Given the description of an element on the screen output the (x, y) to click on. 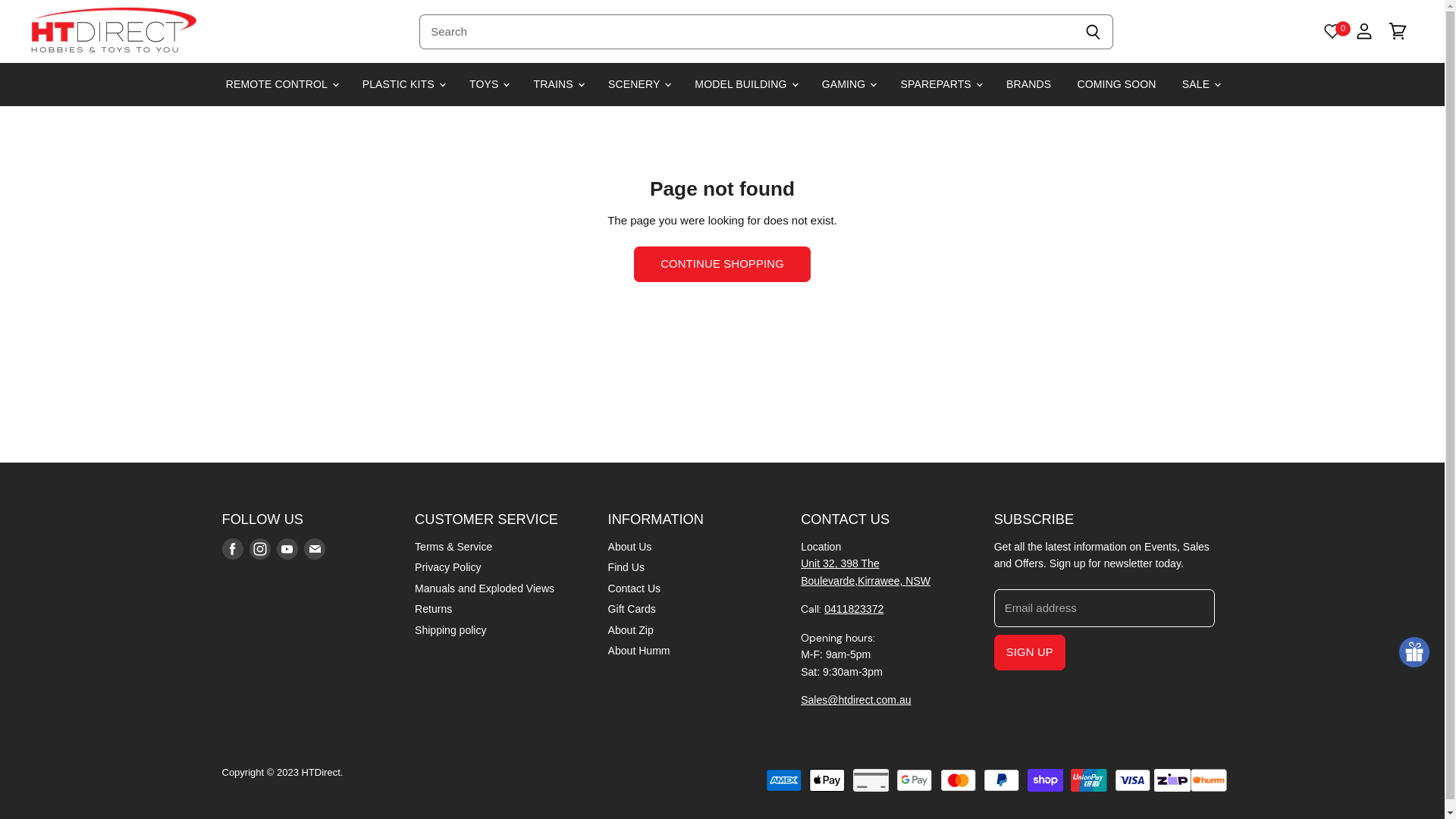
About Us Element type: text (630, 546)
CONTINUE SHOPPING Element type: text (721, 264)
PLASTIC KITS Element type: text (403, 84)
TRAINS Element type: text (557, 84)
About Humm Element type: text (639, 650)
Unit 32, 398 The Boulevarde,Kirrawee, NSW Element type: text (865, 571)
SPAREPARTS Element type: text (940, 84)
Contact Us Element type: text (634, 588)
Sales@htdirect.com.au Element type: text (855, 699)
REMOTE CONTROL Element type: text (281, 84)
Gift Cards Element type: text (631, 608)
Privacy Policy Element type: text (447, 567)
0411823372 Element type: text (853, 608)
MODEL BUILDING Element type: text (744, 84)
Manuals and Exploded Views Element type: text (484, 588)
Find us on E-mail Element type: text (313, 548)
Terms & Service Element type: text (453, 546)
Find Us Element type: text (626, 567)
SIGN UP Element type: text (1029, 652)
View account Element type: text (1363, 30)
SALE Element type: text (1200, 84)
TOYS Element type: text (488, 84)
BRANDS Element type: text (1028, 84)
About Zip Element type: text (630, 630)
SCENERY Element type: text (638, 84)
Wishlist (
0
) Element type: text (1332, 30)
Returns Element type: text (432, 608)
COMING SOON Element type: text (1116, 84)
Find us on Youtube Element type: text (286, 548)
GAMING Element type: text (848, 84)
Find us on Facebook Element type: text (231, 548)
Find us on Instagram Element type: text (259, 548)
Shipping policy Element type: text (450, 630)
View cart Element type: text (1397, 30)
